Given the description of an element on the screen output the (x, y) to click on. 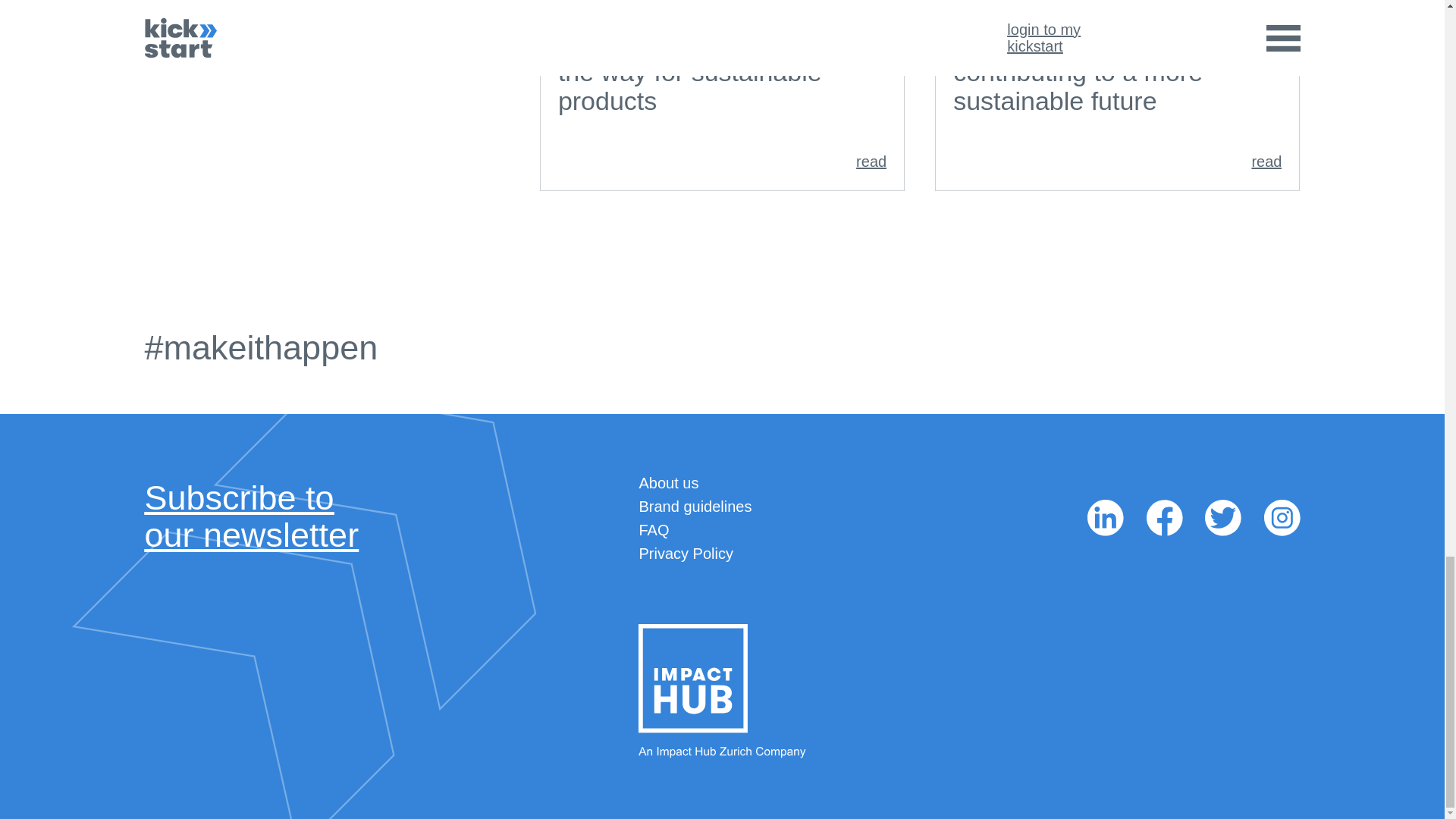
Privacy Policy (685, 553)
About us (668, 483)
read (251, 516)
Brand guidelines (721, 161)
FAQ (695, 506)
read (653, 529)
